Given the description of an element on the screen output the (x, y) to click on. 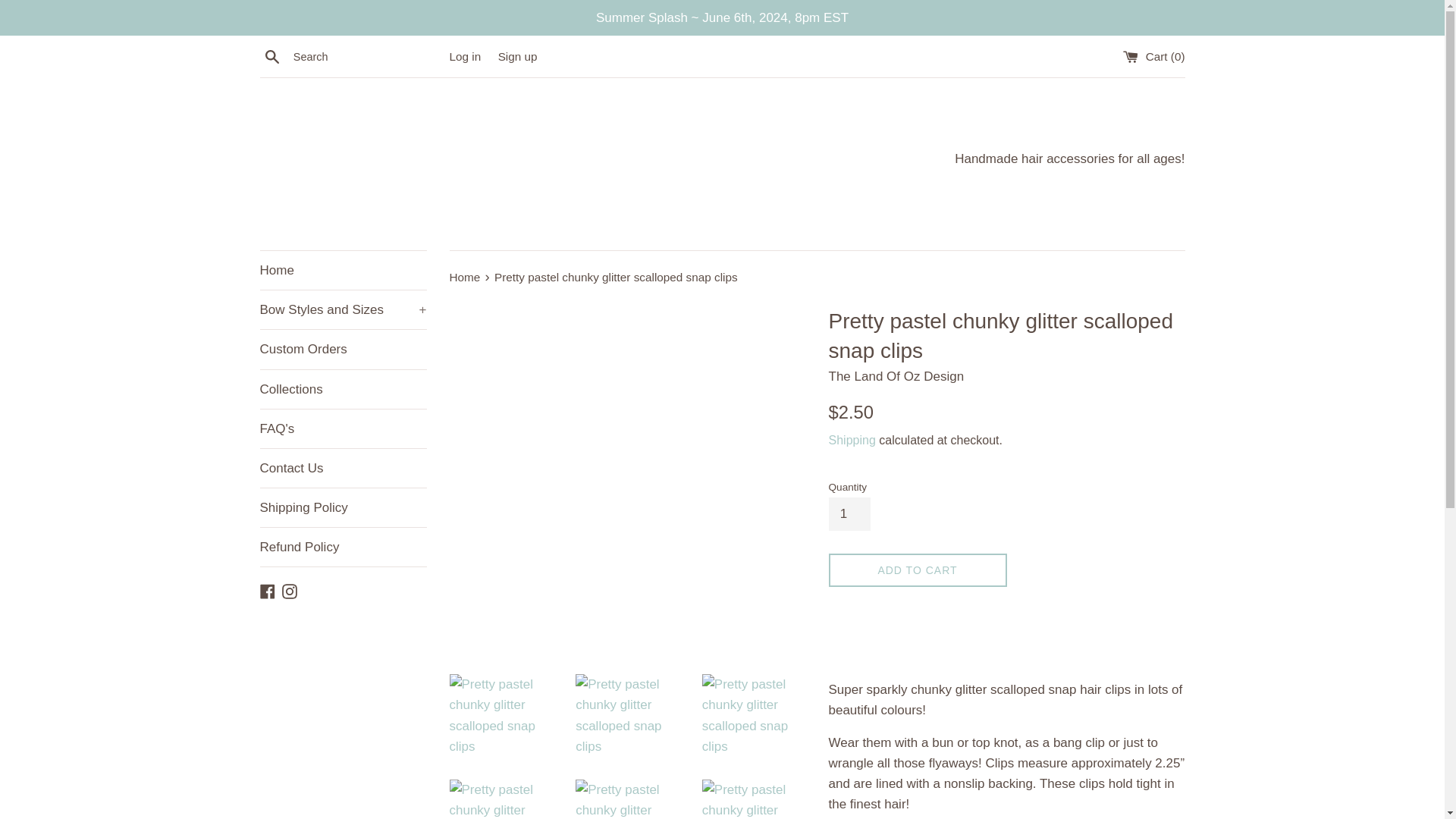
ADD TO CART (917, 570)
Back to the frontpage (465, 277)
Collections (342, 389)
Instagram (289, 590)
Home (342, 269)
The Land Of Oz Design on Facebook (267, 590)
Refund Policy (342, 546)
Shipping (851, 440)
Sign up (517, 56)
Shipping Policy (342, 507)
Search (271, 56)
The Land Of Oz Design on Instagram (289, 590)
FAQ's (342, 428)
Contact Us (342, 467)
Custom Orders (342, 349)
